Given the description of an element on the screen output the (x, y) to click on. 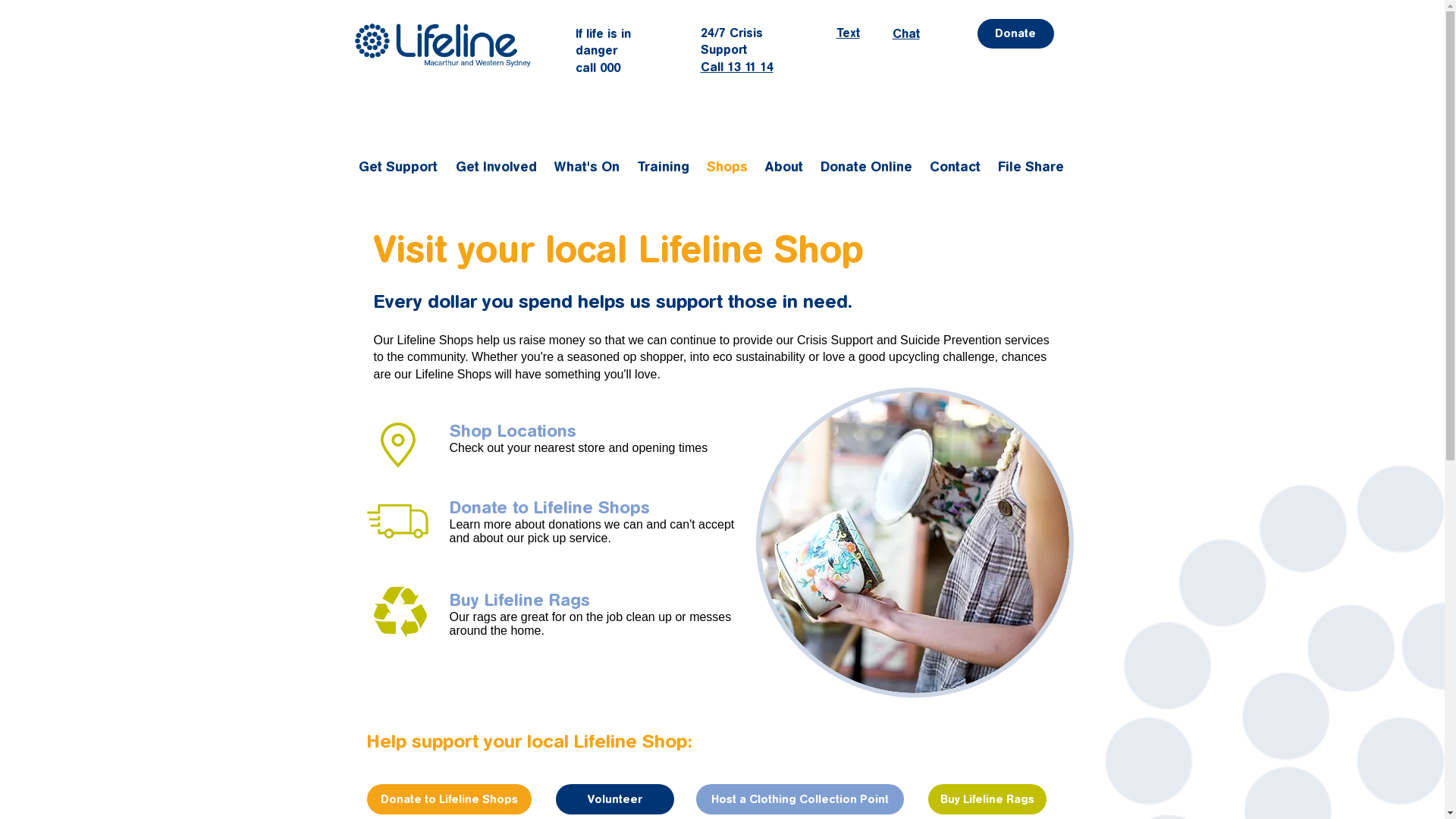
Get Support Element type: text (398, 166)
Shops Element type: text (728, 166)
Donate Element type: text (1014, 33)
Volunteer Element type: text (614, 799)
Donate to Lifeline Shops Element type: text (449, 799)
What's On Element type: text (587, 166)
About Element type: text (784, 166)
Training Element type: text (664, 166)
Contact Element type: text (956, 166)
Host a Clothing Collection Point Element type: text (799, 799)
File Share Element type: text (1031, 166)
Buy Lifeline Rags Element type: text (987, 799)
Text Element type: text (847, 32)
Donate Online Element type: text (867, 166)
Call 13 11 14 Element type: text (736, 66)
Buy Lifeline Rags Element type: text (518, 599)
Chat Element type: text (905, 33)
Donate to Lifeline Shops Element type: text (548, 507)
Shop Locations Element type: text (511, 430)
Get Involved Element type: text (496, 166)
